Given the description of an element on the screen output the (x, y) to click on. 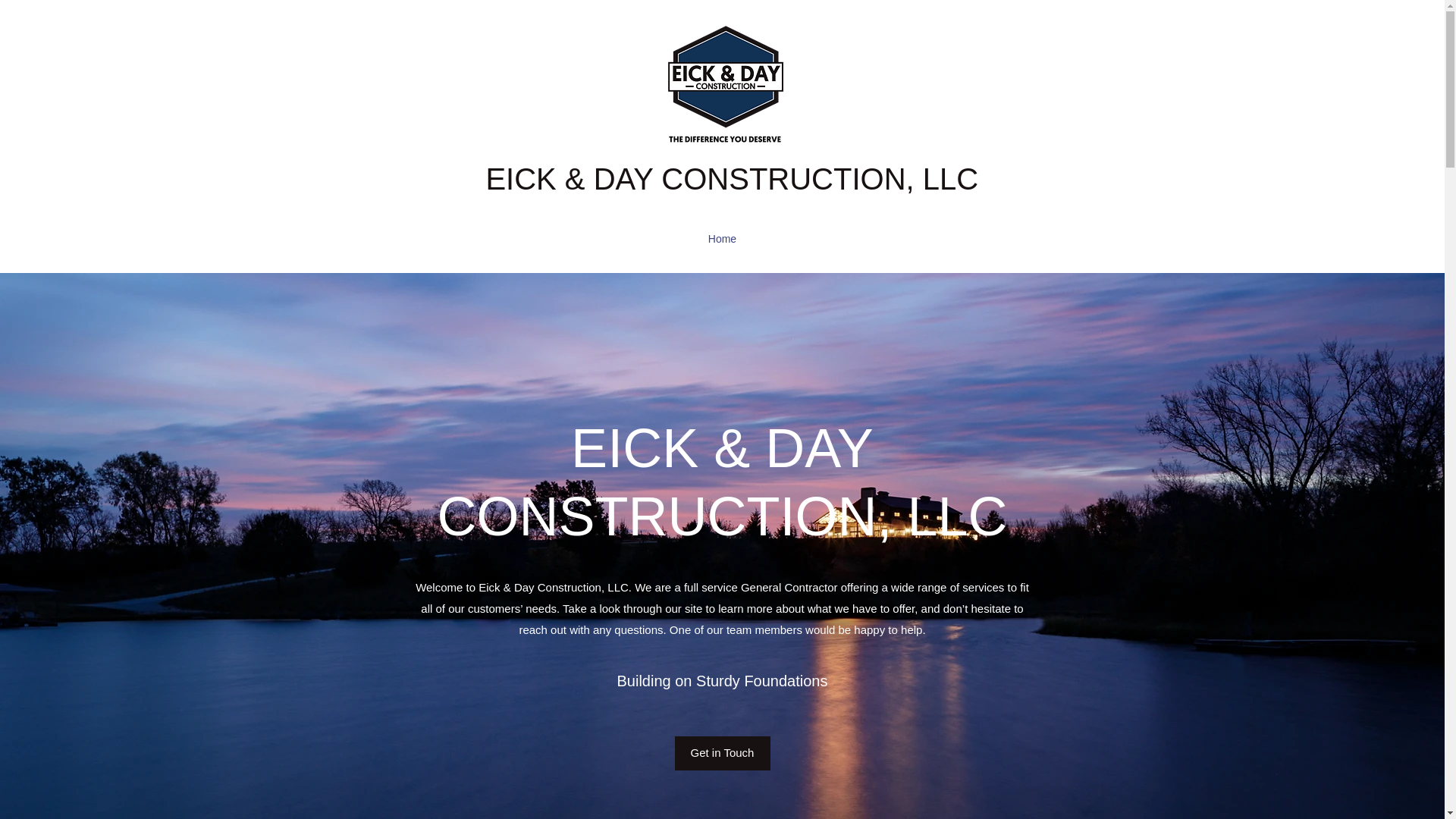
Get in Touch (722, 753)
Home (722, 238)
